Given the description of an element on the screen output the (x, y) to click on. 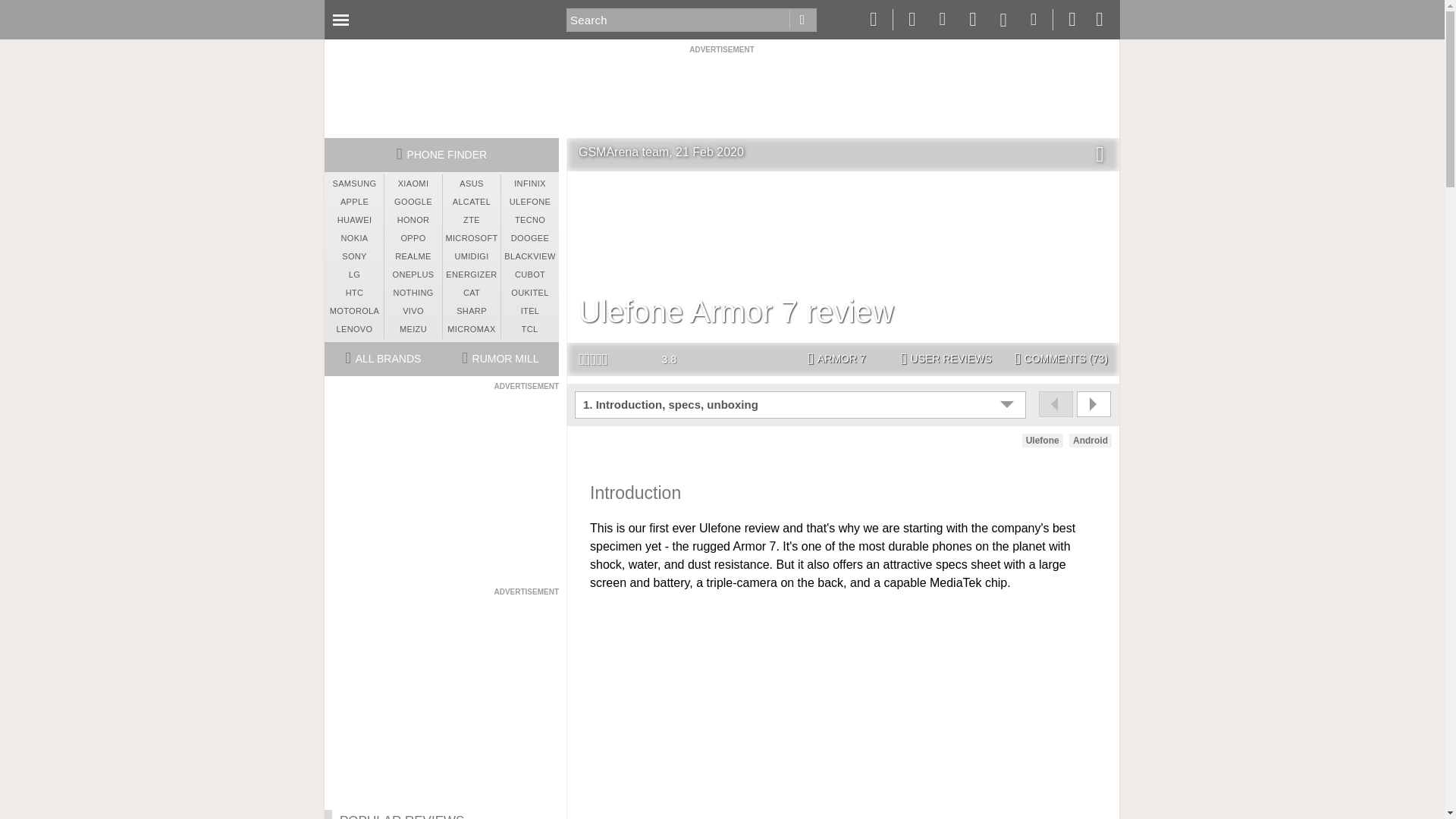
USER REVIEWS (946, 359)
Next page (1093, 403)
Go (802, 19)
1. Introduction, specs, unboxing (802, 404)
Go (802, 19)
Previous page (1056, 403)
1. Introduction, specs, unboxing (802, 404)
ARMOR 7 (836, 359)
